Given the description of an element on the screen output the (x, y) to click on. 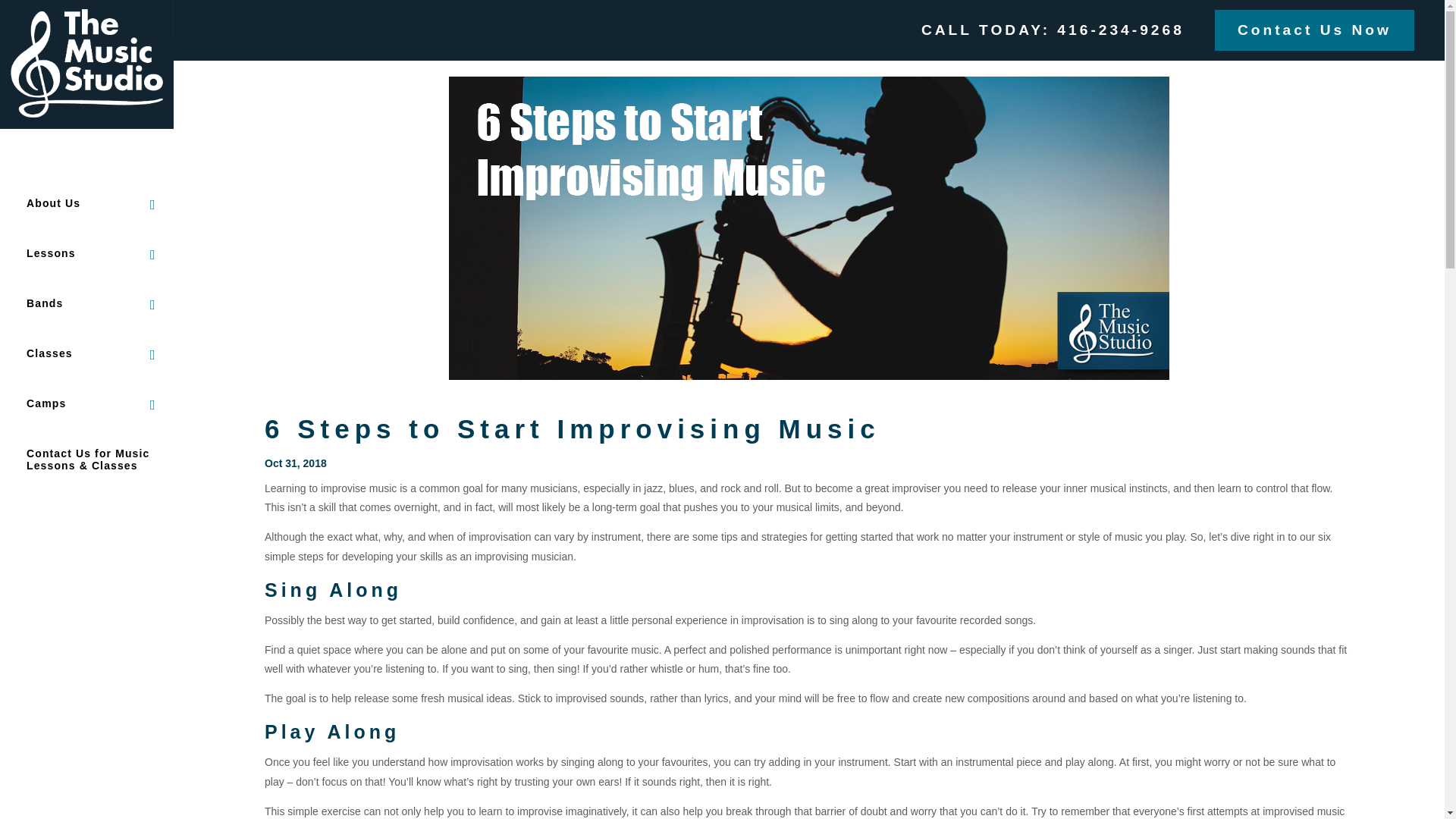
Classes (80, 372)
Camps (80, 422)
BACK (28, 148)
About Us (80, 222)
Bands (80, 322)
Lessons (80, 272)
